Given the description of an element on the screen output the (x, y) to click on. 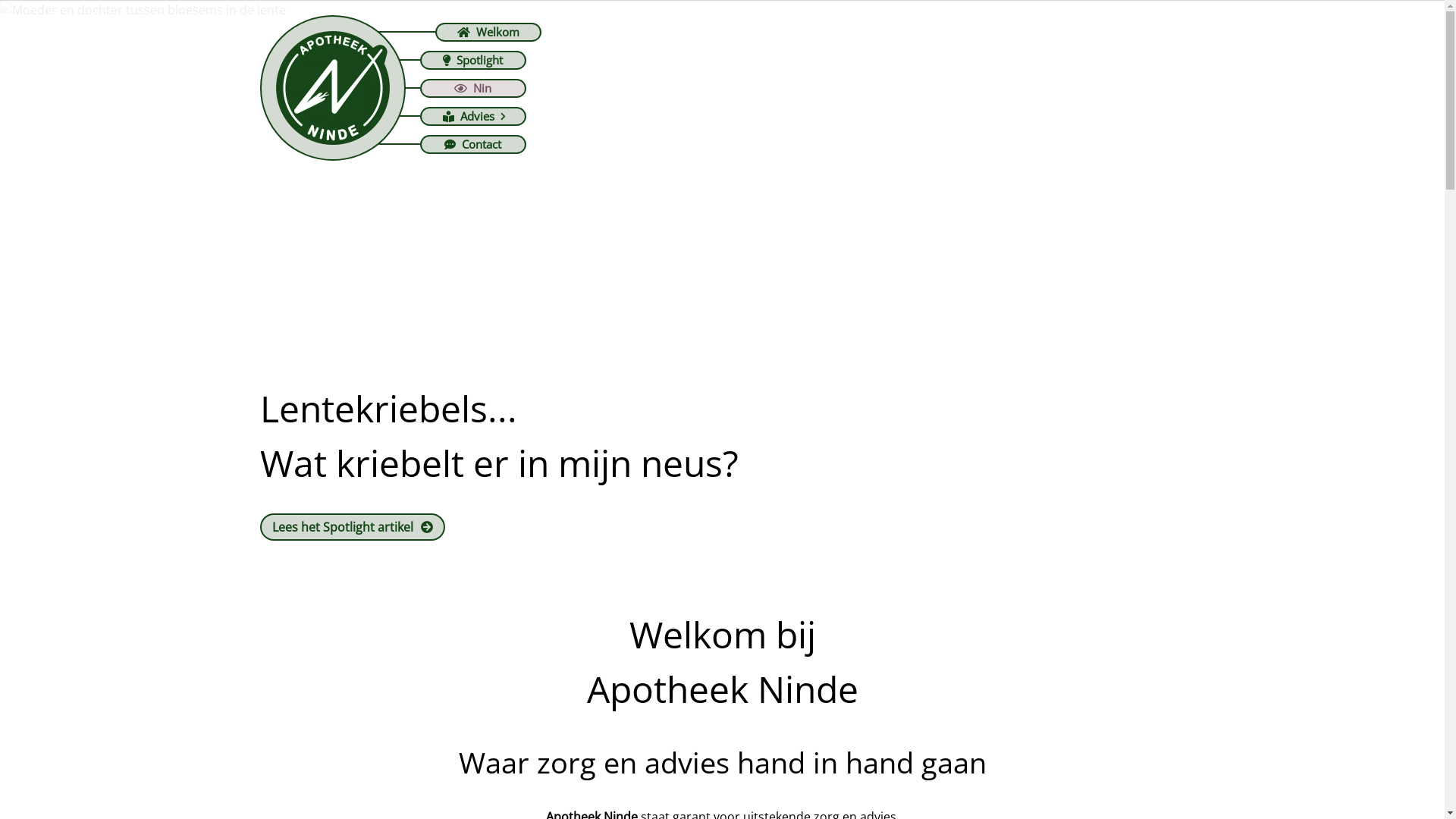
Spotlight Element type: text (473, 59)
Advies Element type: text (473, 115)
Contact Element type: text (473, 143)
Welkom Element type: text (488, 31)
Nin Element type: text (473, 87)
Apotheek Ninde Element type: hover (331, 87)
lente moeder dochter bloesems Element type: hover (722, 273)
Lees het Spotlight artikel Element type: text (351, 526)
